Given the description of an element on the screen output the (x, y) to click on. 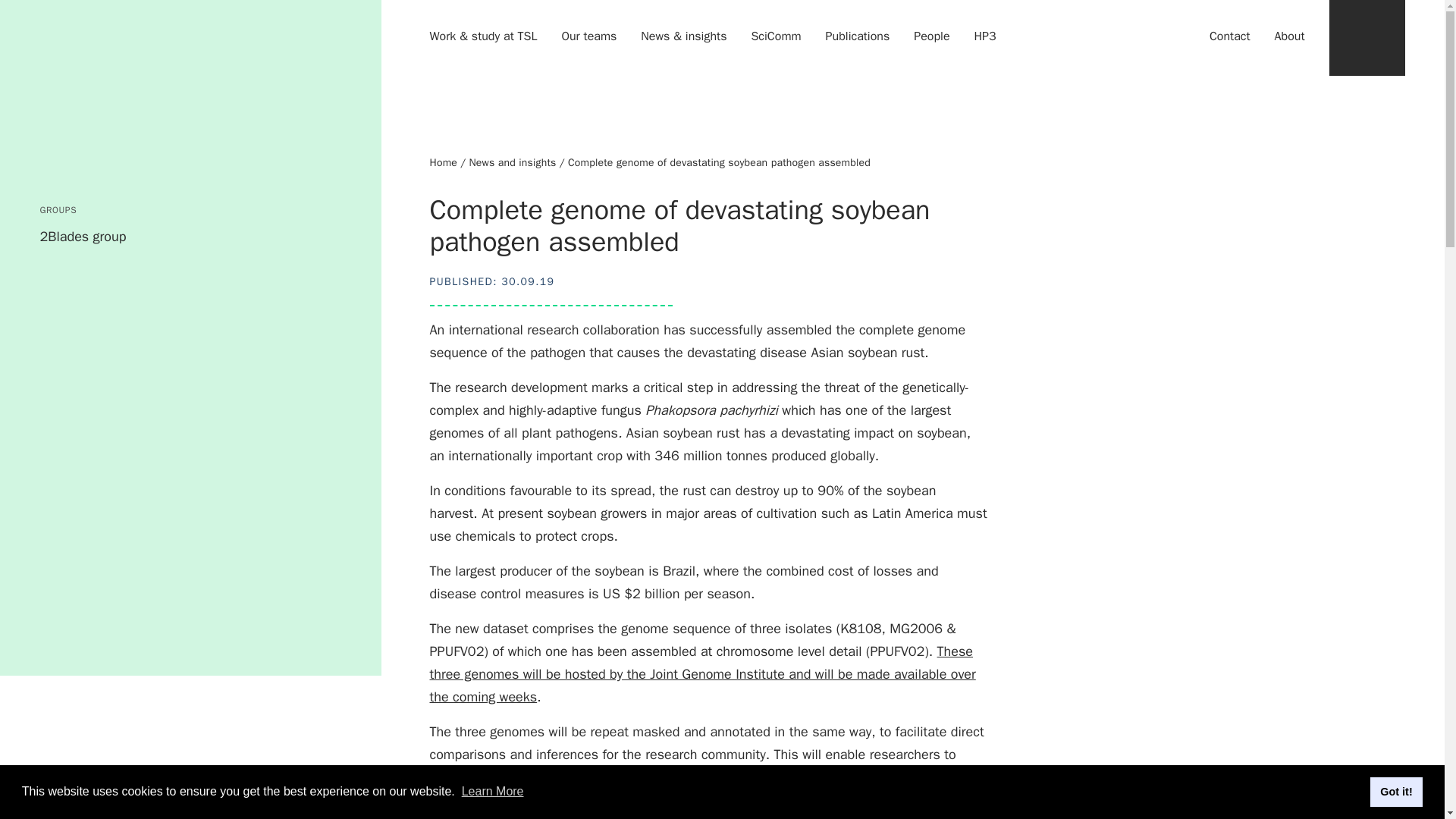
Learn More (492, 790)
Got it! (1396, 791)
Home (443, 162)
2Blades group (82, 236)
News and insights (512, 162)
Return to The Sainsbury Laboratory home page (122, 87)
The Sainsbury Laboratory (122, 87)
